Given the description of an element on the screen output the (x, y) to click on. 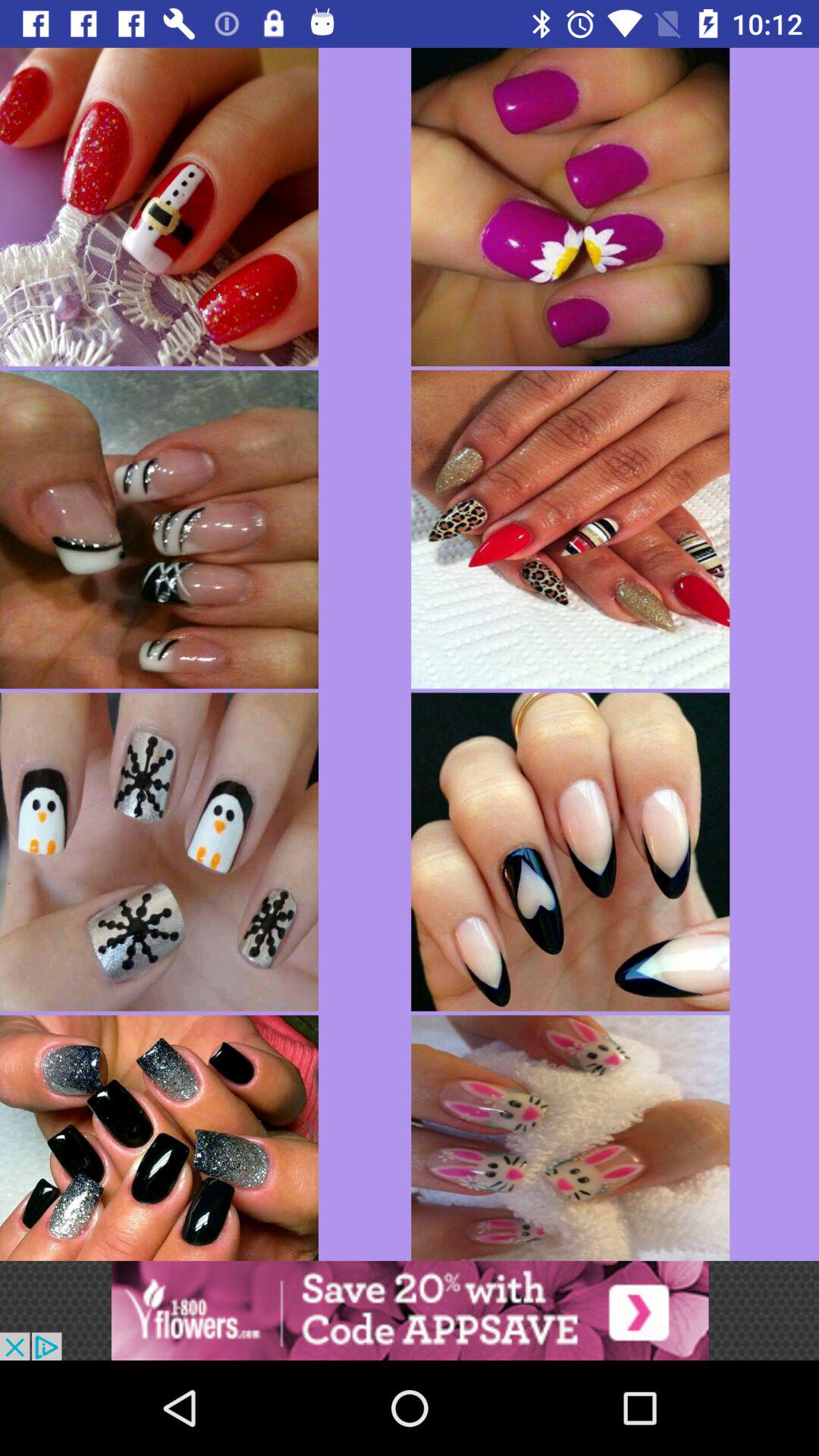
advertisement (409, 1310)
